Given the description of an element on the screen output the (x, y) to click on. 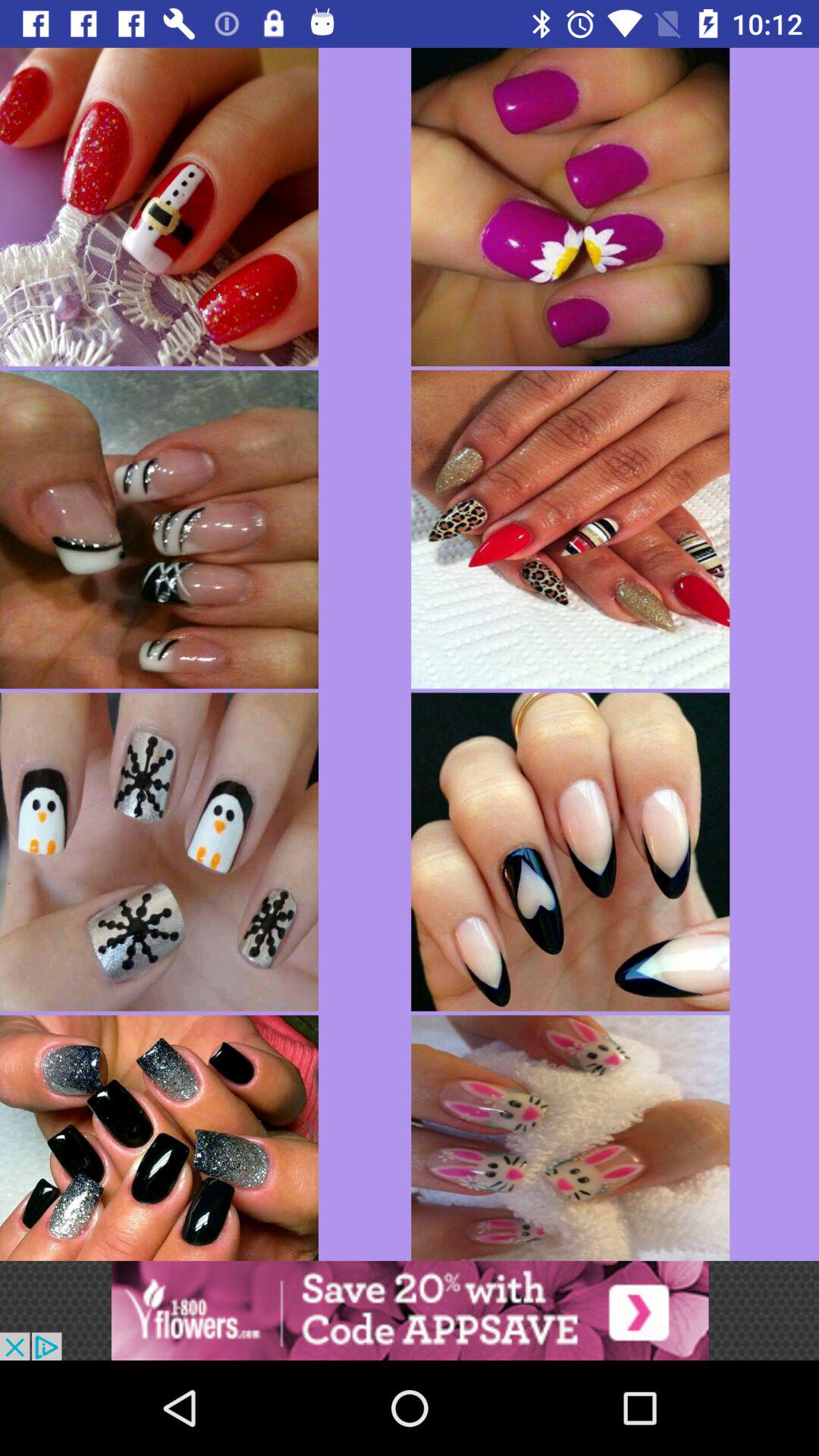
advertisement (409, 1310)
